Given the description of an element on the screen output the (x, y) to click on. 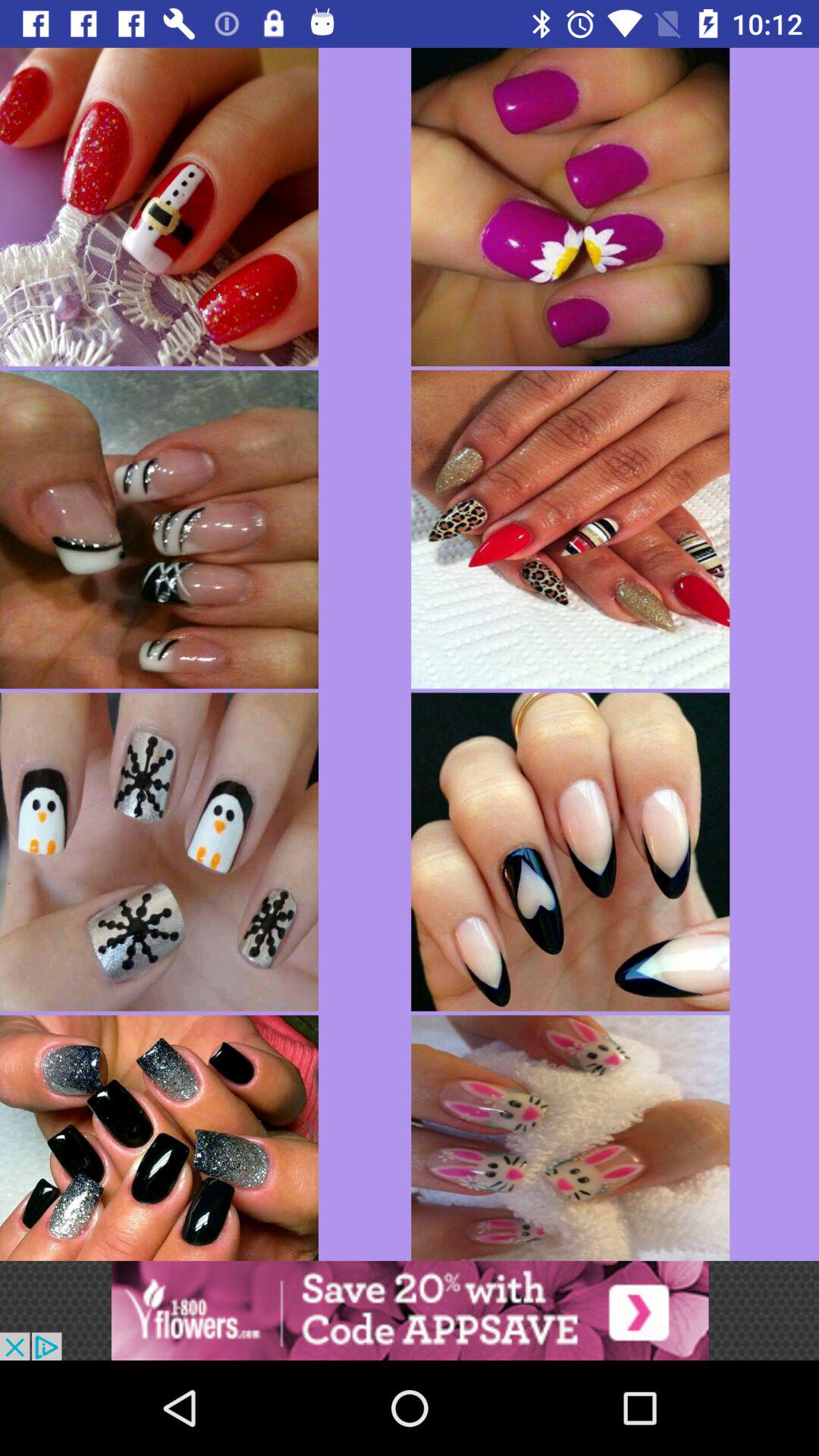
advertisement (409, 1310)
